Given the description of an element on the screen output the (x, y) to click on. 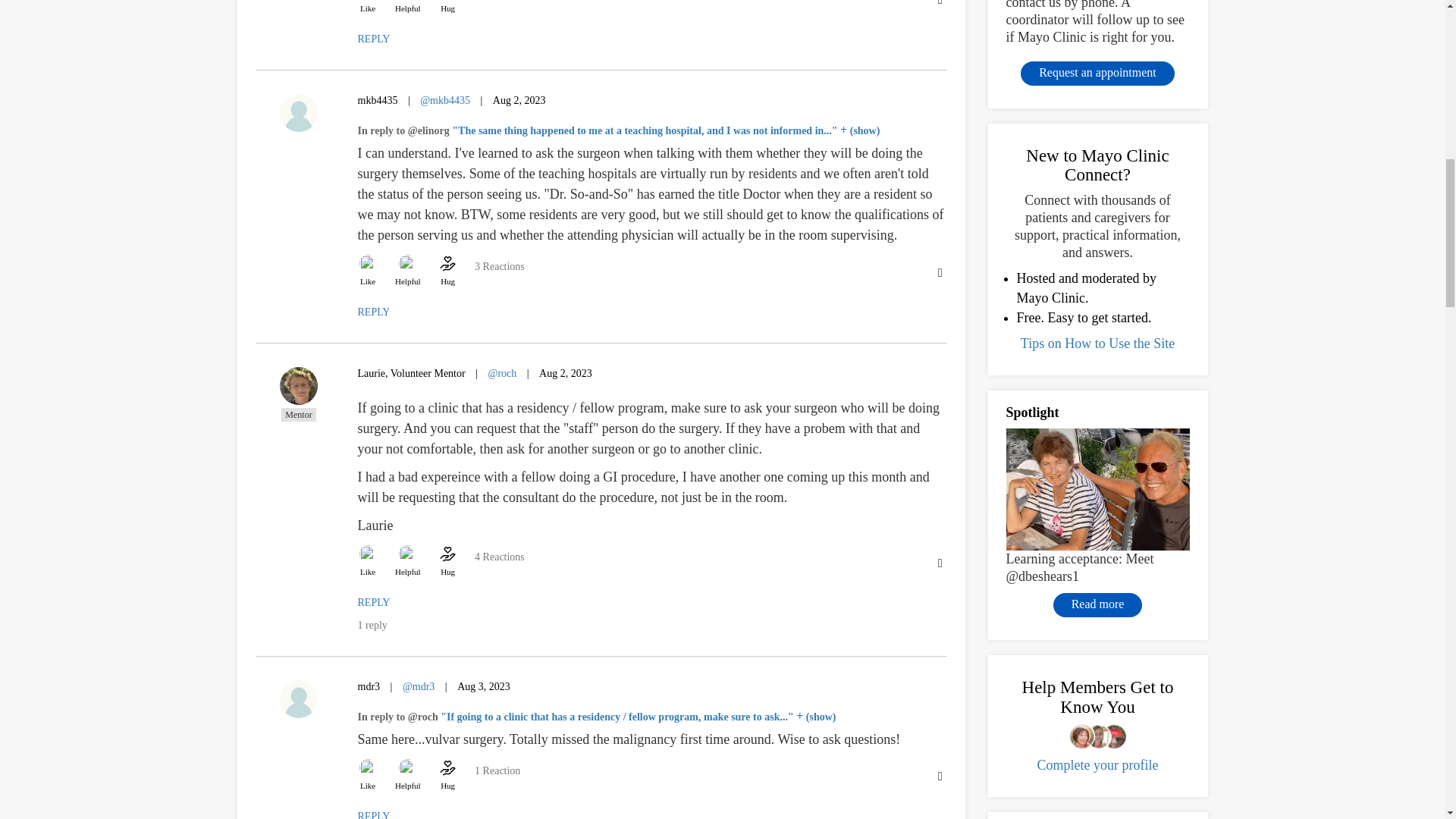
Like this comment to show appreciation for it. (368, 8)
Send encouragement for this comment. (448, 8)
Like (368, 8)
Helpful: indicate that you found this comment helpful. (407, 8)
